Given the description of an element on the screen output the (x, y) to click on. 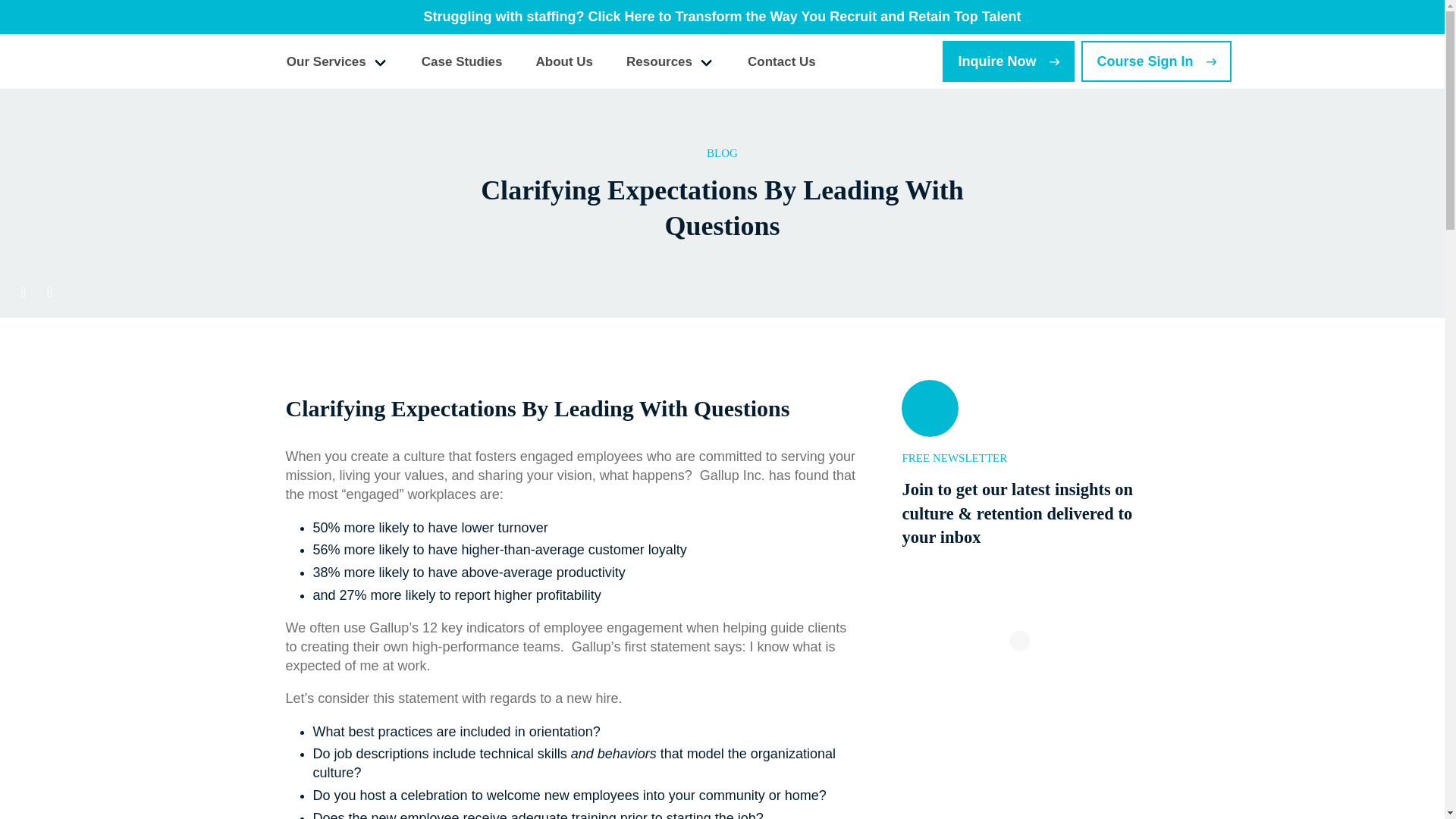
Course Sign In (1156, 60)
Contact Us (782, 61)
Case Studies (461, 61)
About Us (564, 61)
Inquire Now (1008, 60)
Resources (670, 61)
Our Services (336, 61)
